Given the description of an element on the screen output the (x, y) to click on. 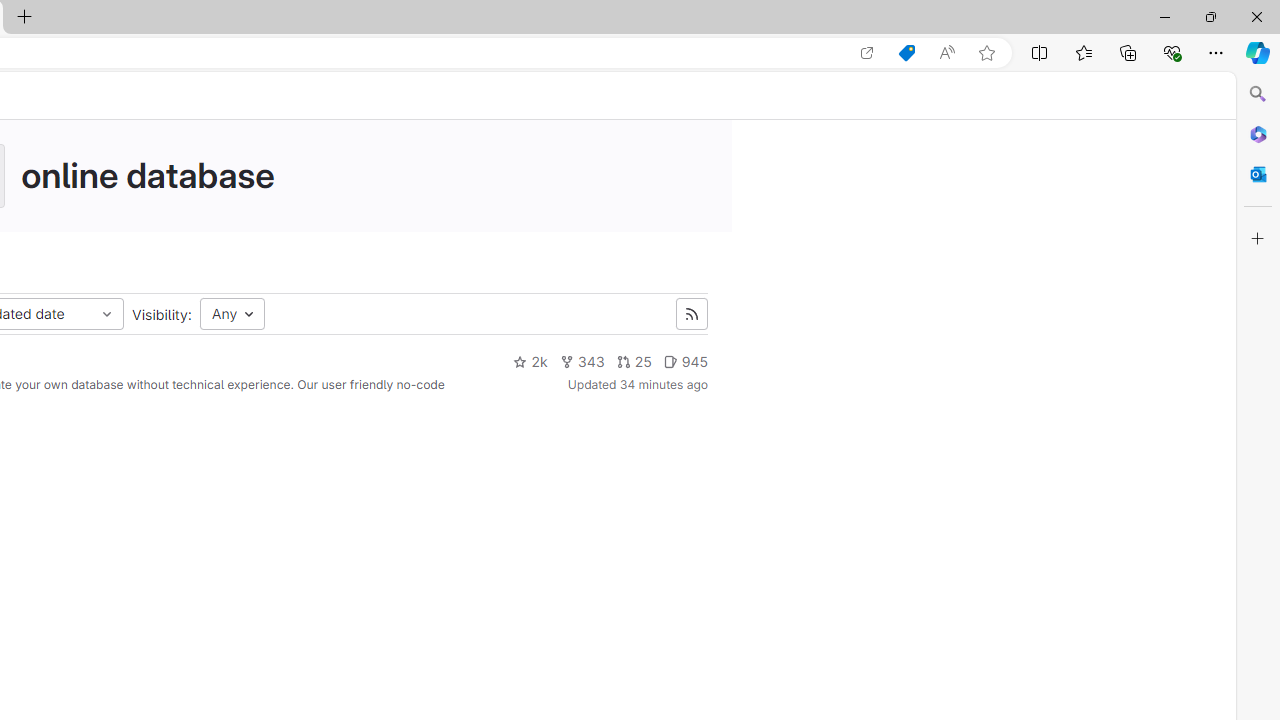
Class: s14 gl-mr-2 (670, 361)
25 (633, 361)
Shopping in Microsoft Edge (906, 53)
945 (685, 361)
